Given the description of an element on the screen output the (x, y) to click on. 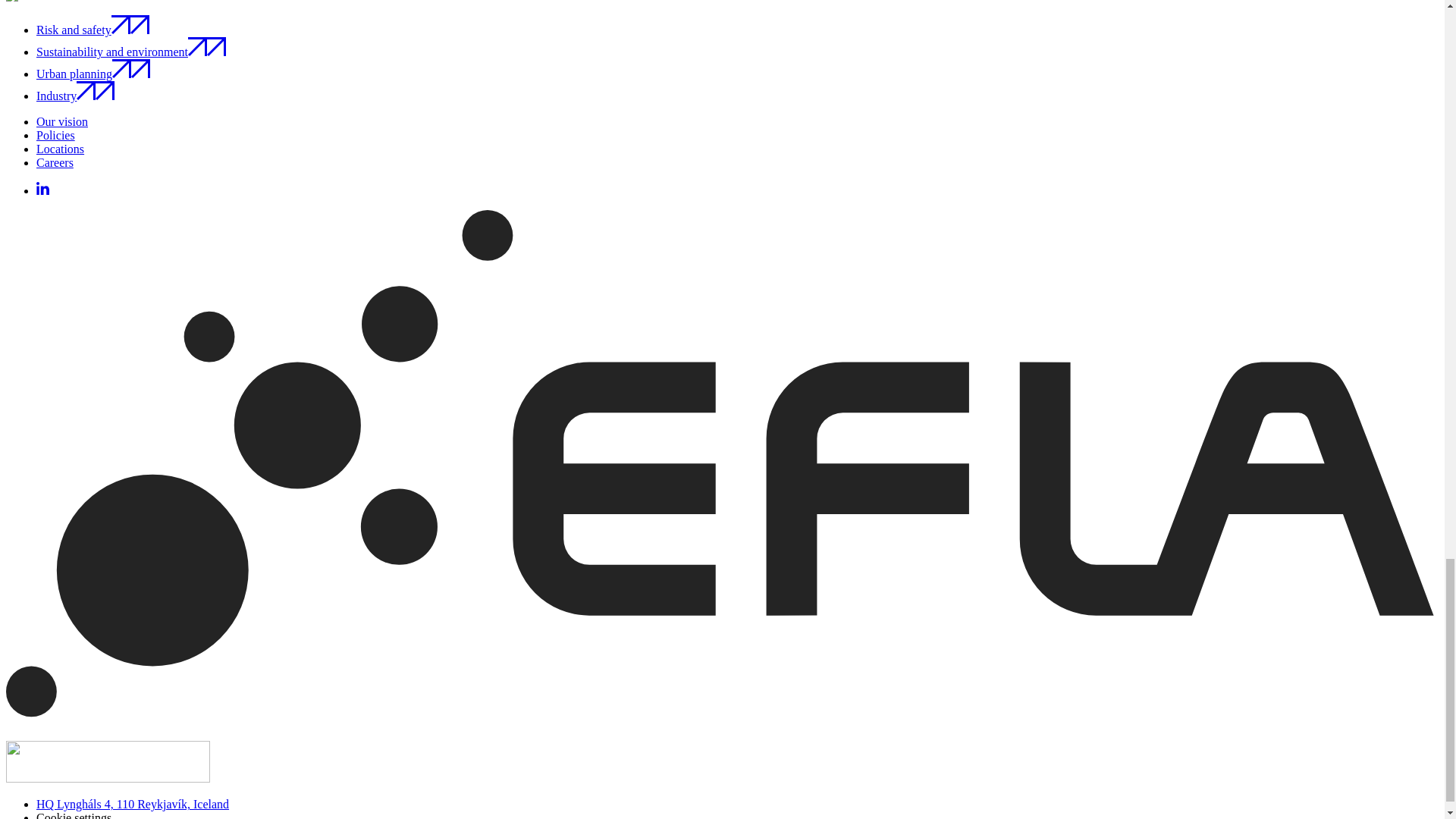
Our vision (61, 121)
Policies (55, 134)
Locations (60, 148)
linkedin (42, 190)
Careers (55, 162)
Industry (75, 95)
Sustainability and environment (130, 51)
Urban planning (92, 73)
Risk and safety (92, 29)
